Given the description of an element on the screen output the (x, y) to click on. 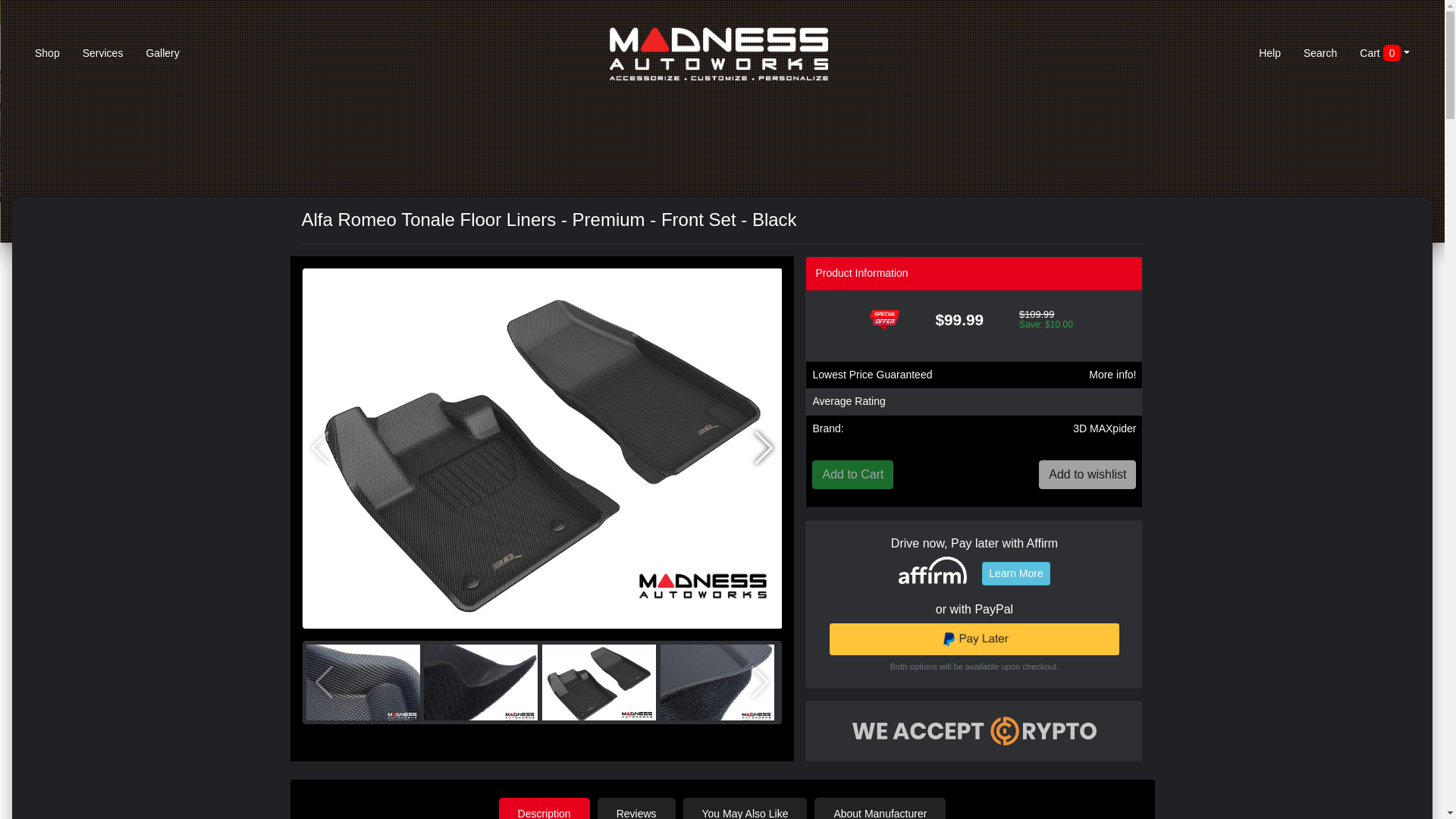
Description (544, 808)
Alfa Romeo Tonale Floor Liners - Premium - Front Set - Black (362, 682)
Alfa Romeo Tonale Floor Liners - Premium - Front Set - Black (480, 682)
Add to wishlist (1087, 474)
Gallery (161, 53)
Learn More (1015, 573)
Services (103, 53)
Add to Cart (852, 474)
Search (1320, 53)
Add to Wish List (1087, 474)
Alfa Romeo Tonale Floor Liners - Premium - Front Set - Black (717, 682)
Alfa Romeo Tonale Floor Liners - Premium - Front Set - Black (598, 682)
More info! (1112, 374)
3D MAXpider (1104, 428)
